Given the description of an element on the screen output the (x, y) to click on. 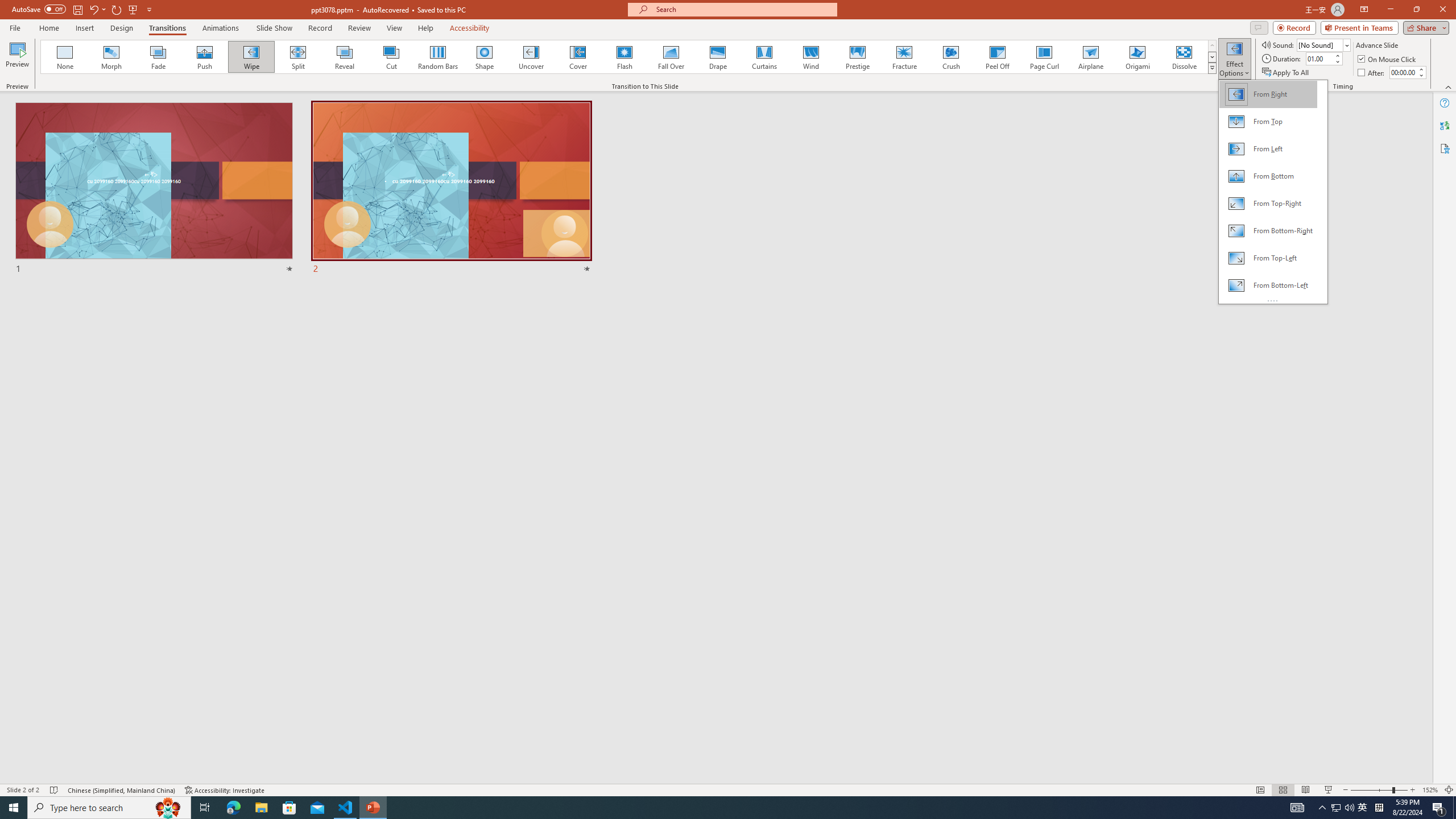
Drape (717, 56)
Flash (624, 56)
